Given the description of an element on the screen output the (x, y) to click on. 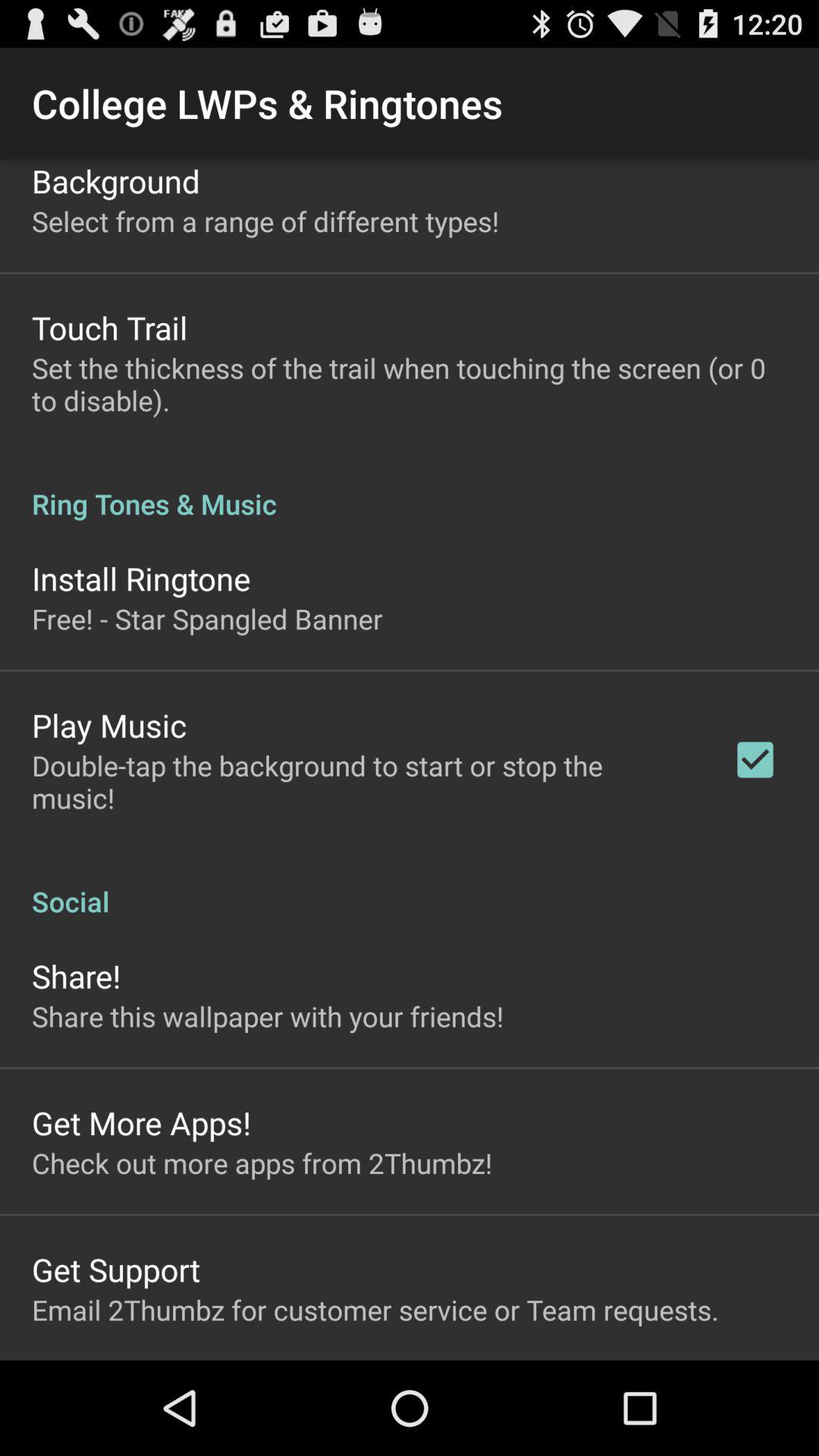
select share this wallpaper (267, 1016)
